Given the description of an element on the screen output the (x, y) to click on. 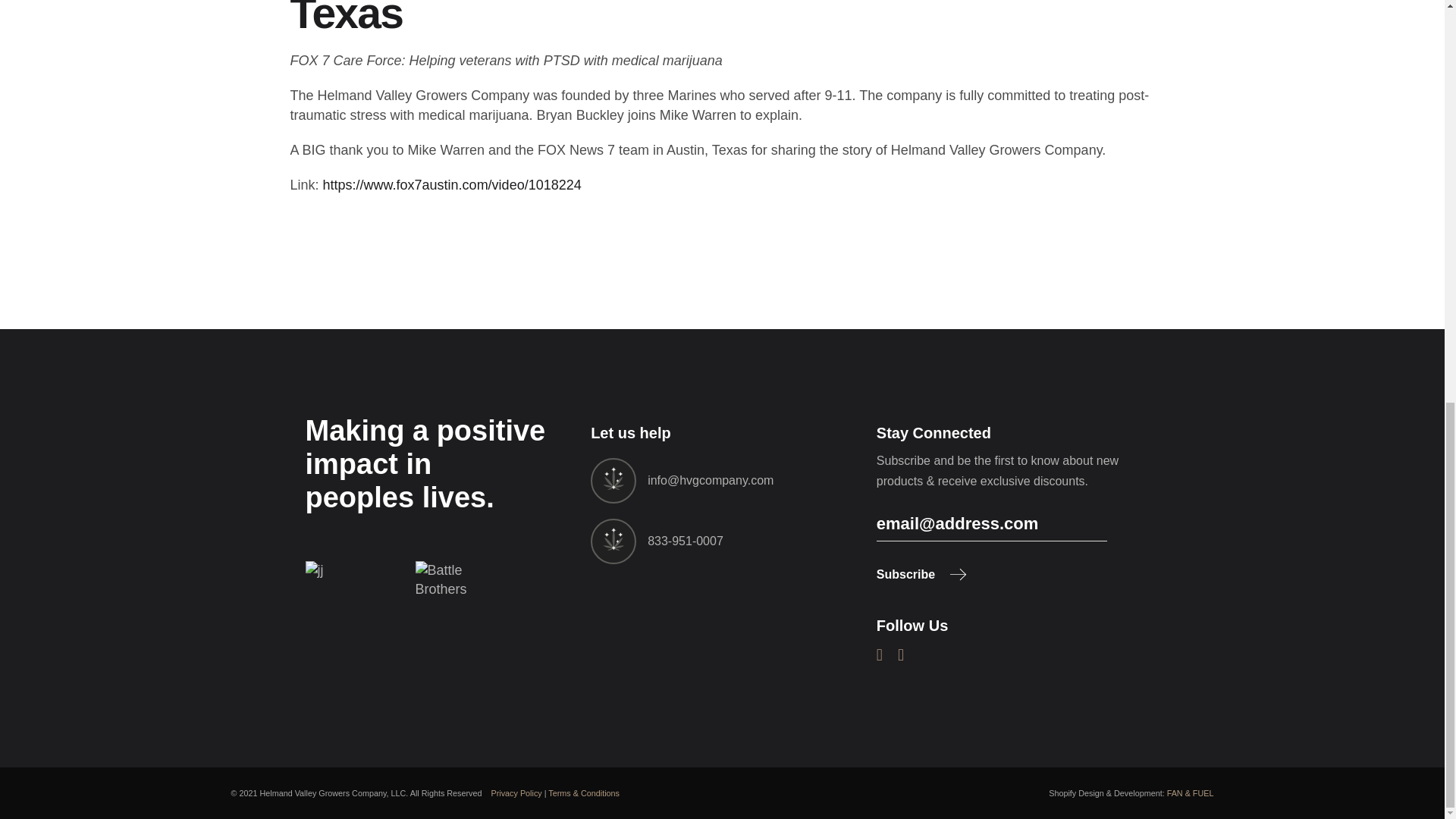
Privacy Policy (516, 792)
